Given the description of an element on the screen output the (x, y) to click on. 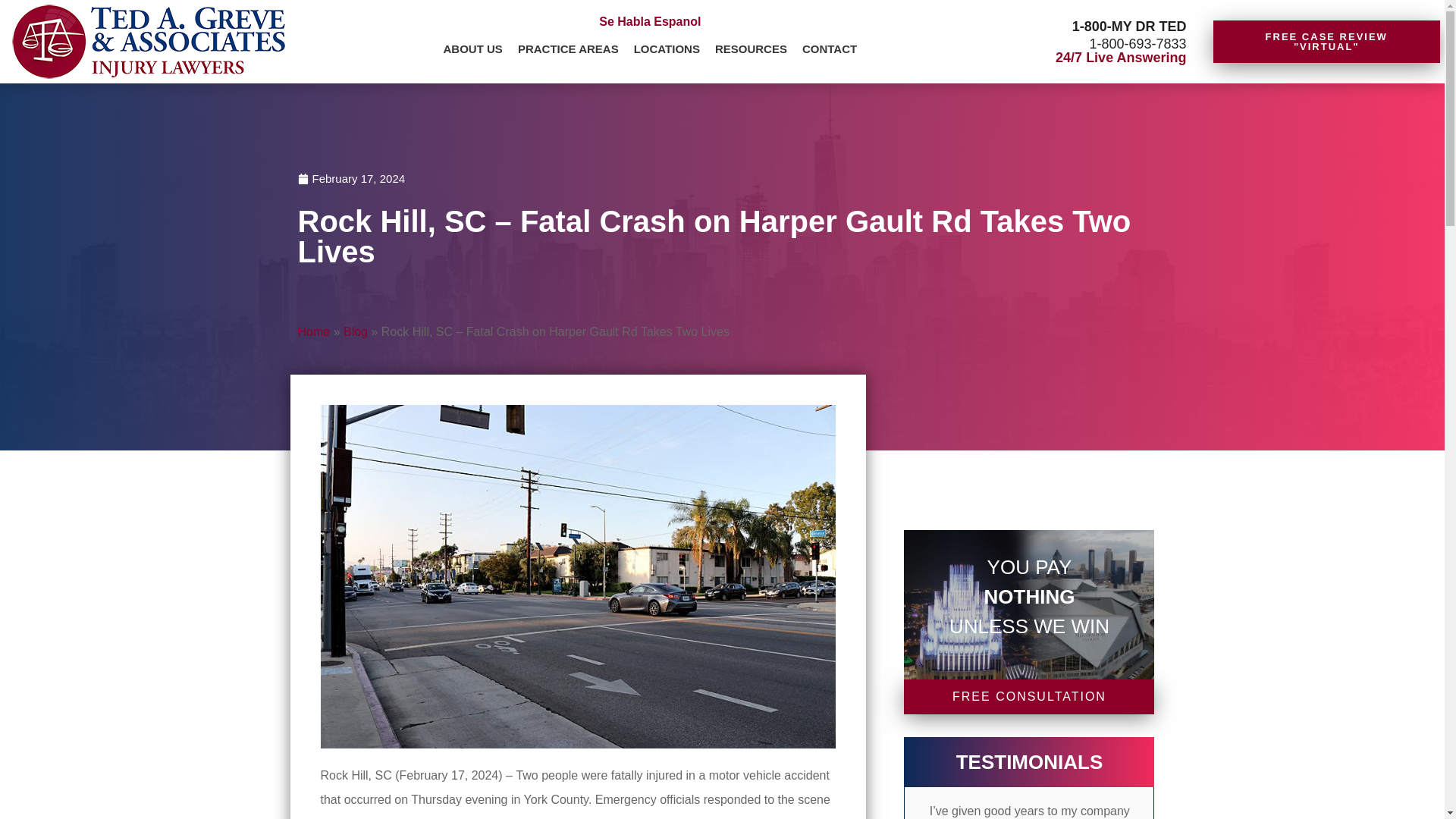
ABOUT US (473, 49)
LOCATIONS (666, 49)
PRACTICE AREAS (568, 49)
Se Habla Espanol (649, 21)
